Given the description of an element on the screen output the (x, y) to click on. 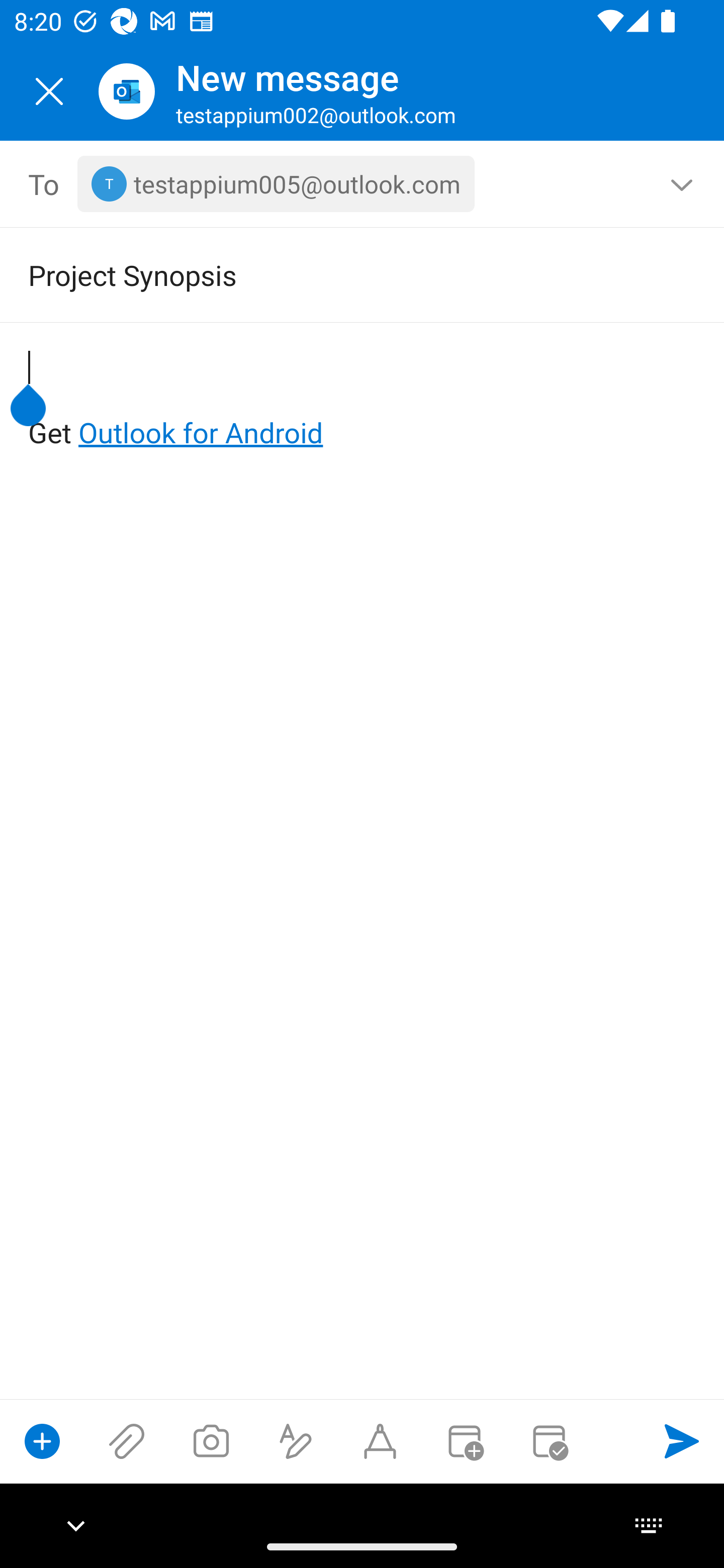
Close (49, 91)
Project Synopsis (333, 274)


Get Outlook for Android (363, 400)
Show compose options (42, 1440)
Attach files (126, 1440)
Take a photo (210, 1440)
Show formatting options (295, 1440)
Start Ink compose (380, 1440)
Convert to event (464, 1440)
Send availability (548, 1440)
Send (681, 1440)
